Given the description of an element on the screen output the (x, y) to click on. 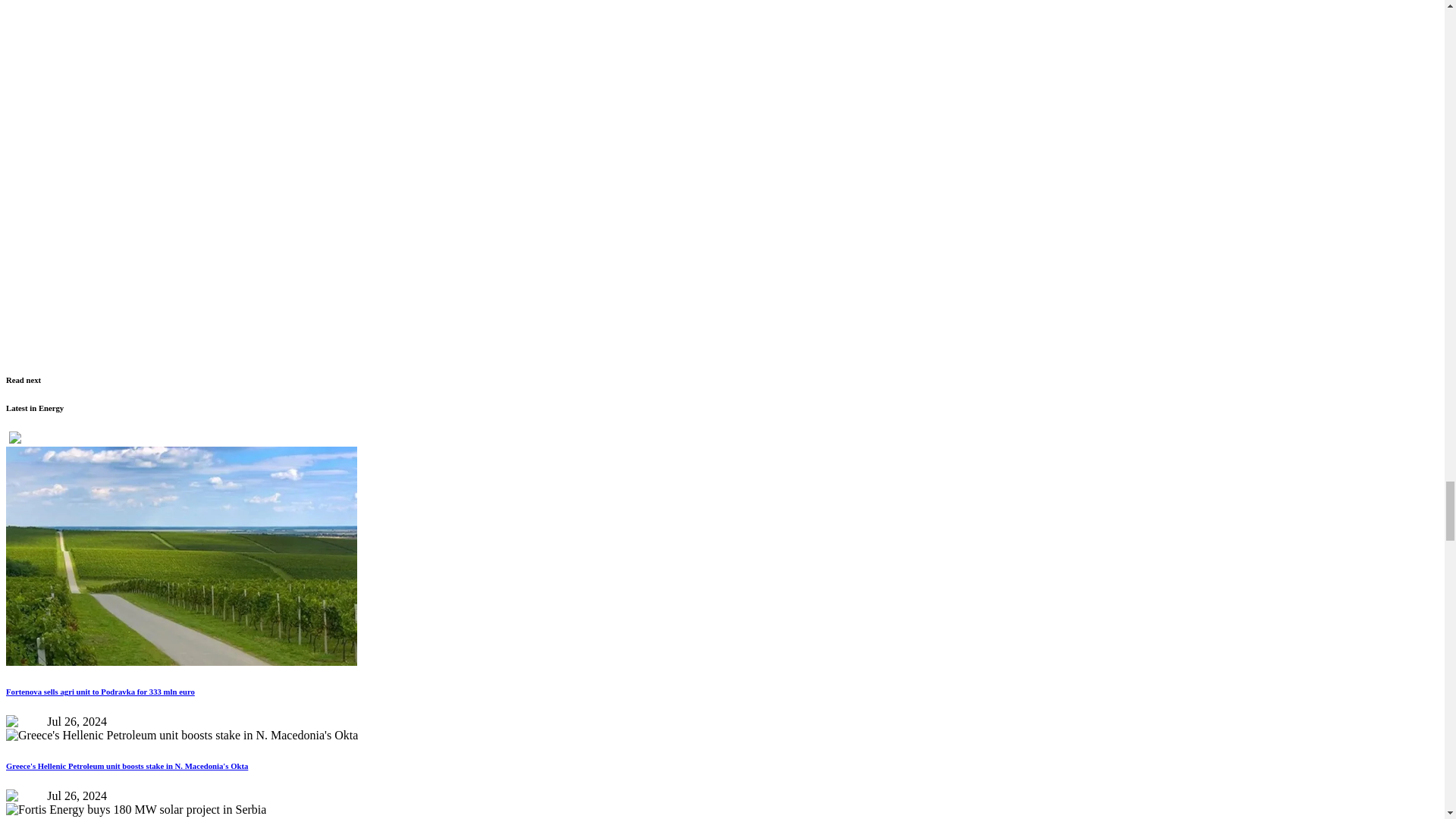
1261257 (181, 735)
1261251 (135, 809)
1261262 (180, 555)
